Given the description of an element on the screen output the (x, y) to click on. 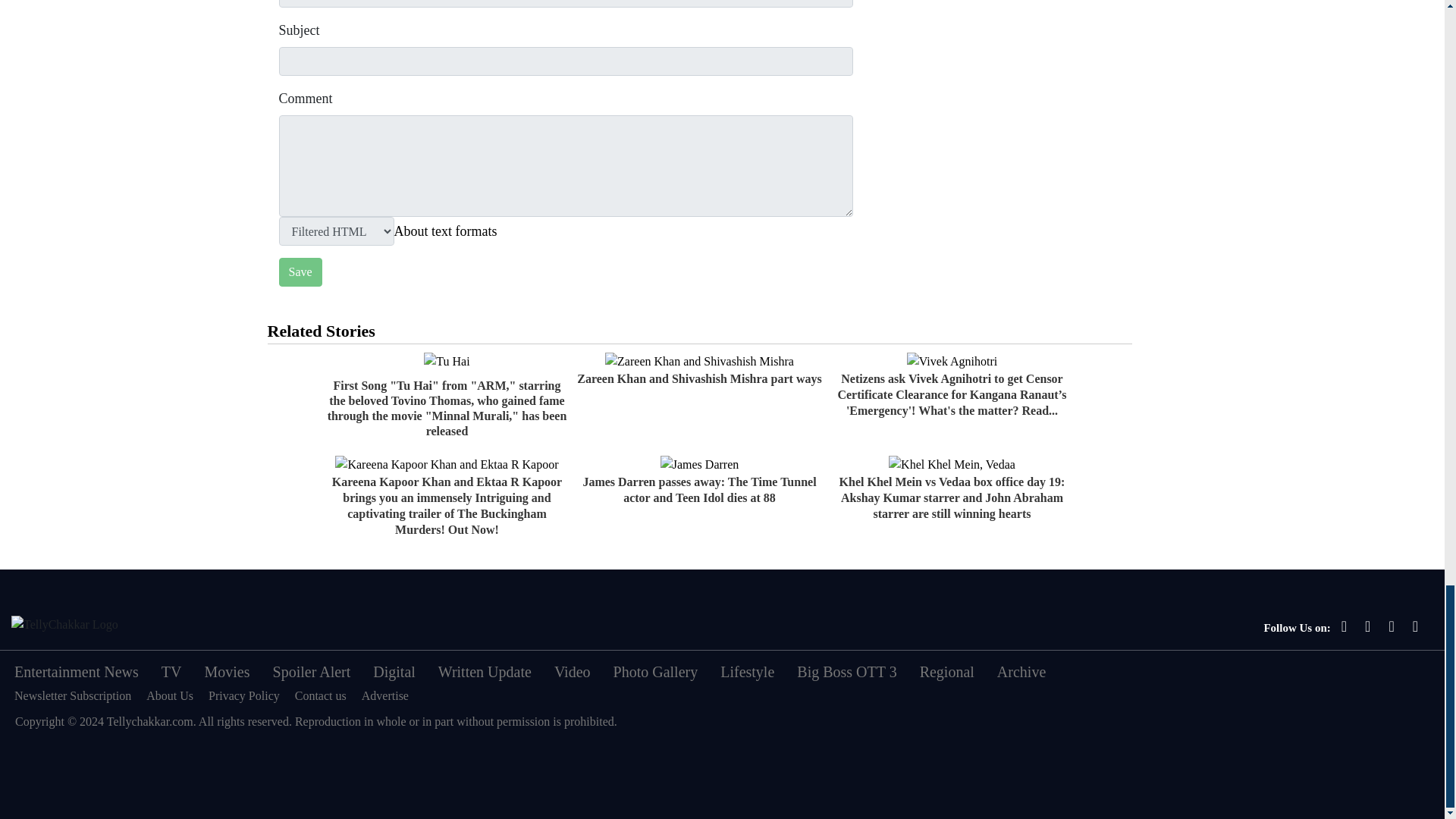
TellyChakkar Logo (64, 624)
James Darren (700, 464)
Khel Khel Mein, Vedaa (951, 464)
Opens in new window (445, 230)
Tu Hai (445, 361)
Vivek Agnihotri (952, 361)
Zareen Khan and Shivashish Mishra (699, 361)
Kareena Kapoor Khan and Ektaa R Kapoor (445, 464)
